Given the description of an element on the screen output the (x, y) to click on. 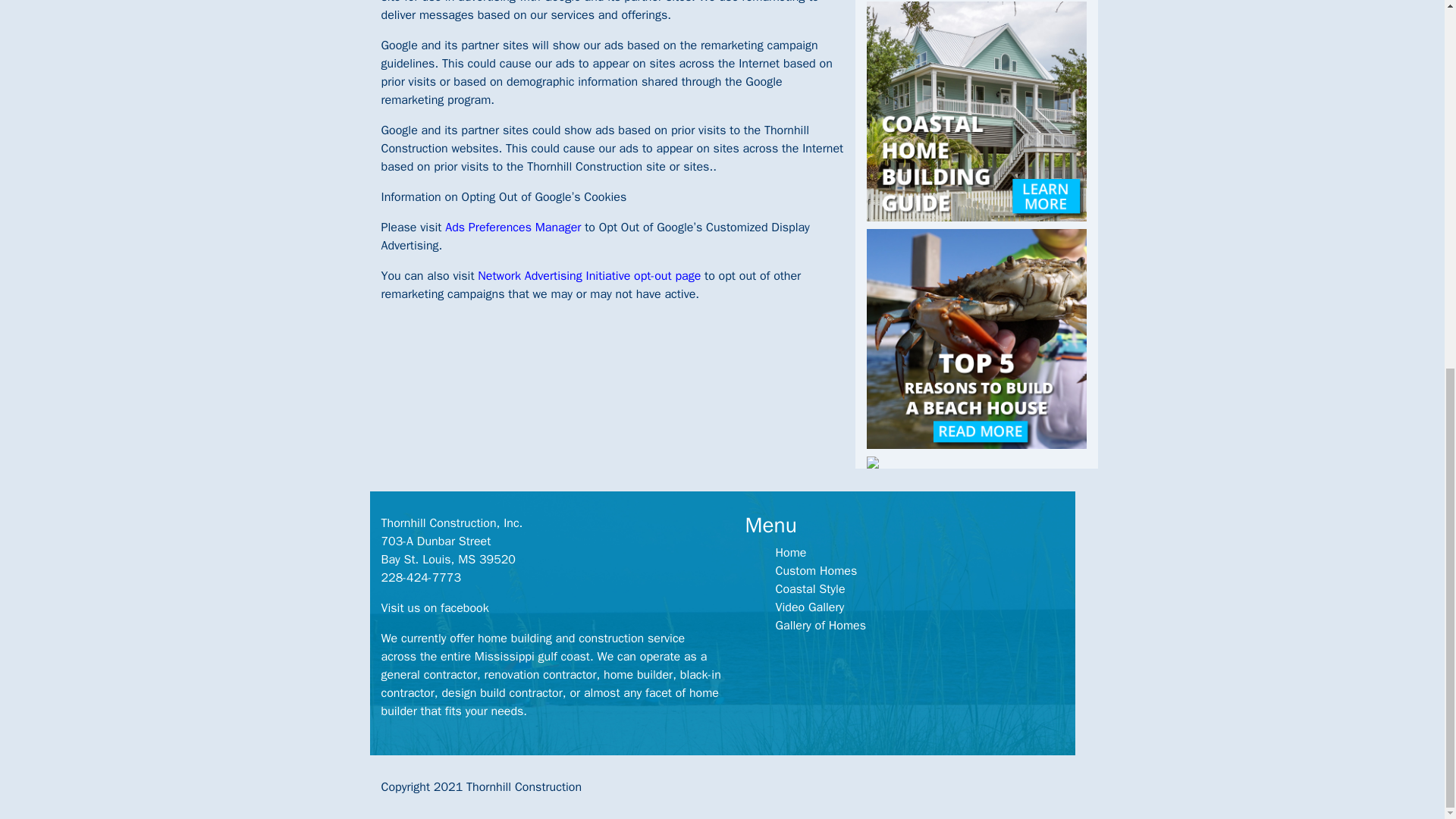
Custom Homes (815, 570)
Coastal Style (809, 589)
 Network Advertising Initiative opt-out page (587, 275)
Gallery of Homes (820, 625)
Video Gallery (809, 607)
facebook (465, 607)
Home (790, 552)
 Ads Preferences Manager (510, 227)
